Given the description of an element on the screen output the (x, y) to click on. 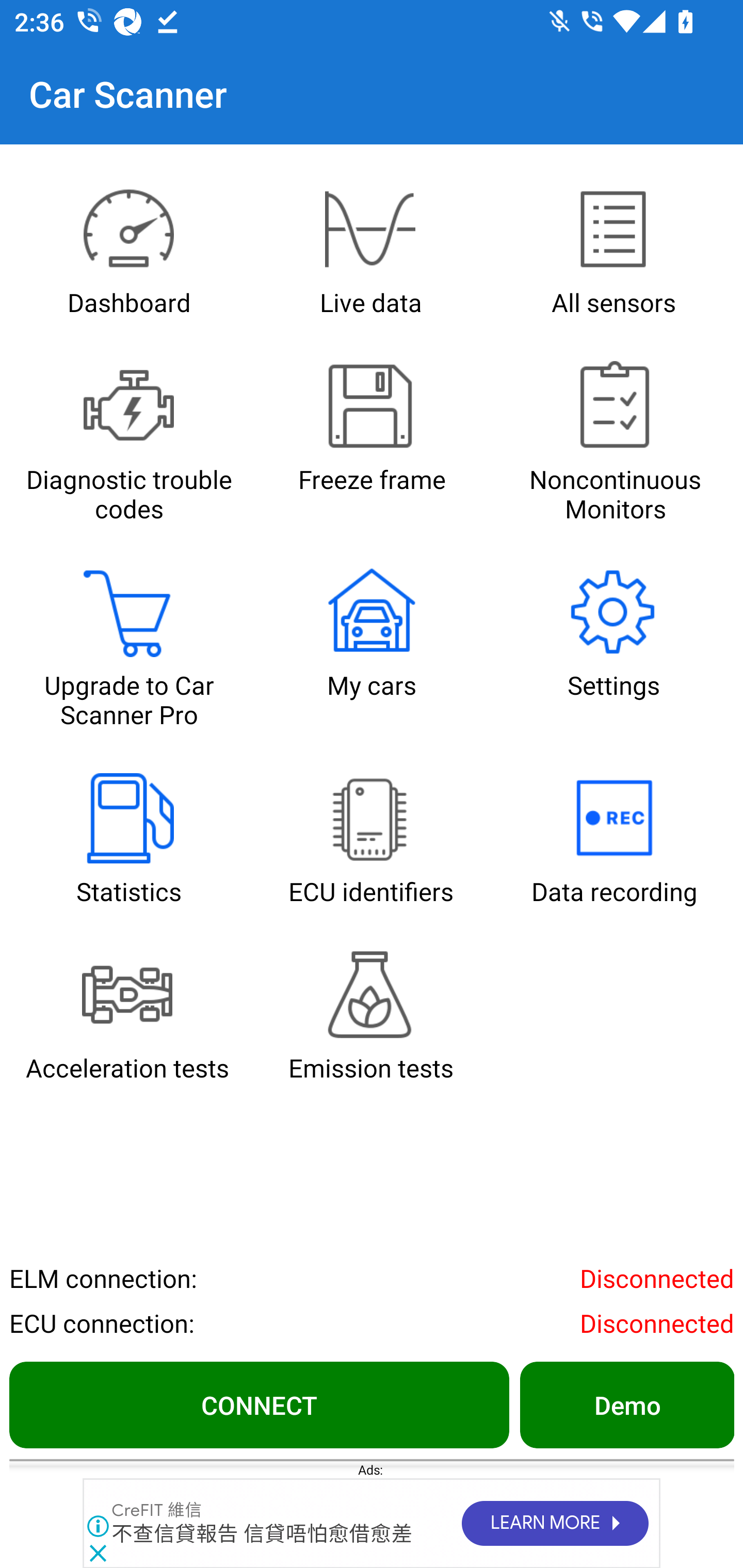
CONNECT (258, 1404)
Demo (627, 1404)
CreFIT 維信 (157, 1511)
LEARN MORE (554, 1523)
不查信貸報告 信貸唔怕愈借愈差 (262, 1534)
